Given the description of an element on the screen output the (x, y) to click on. 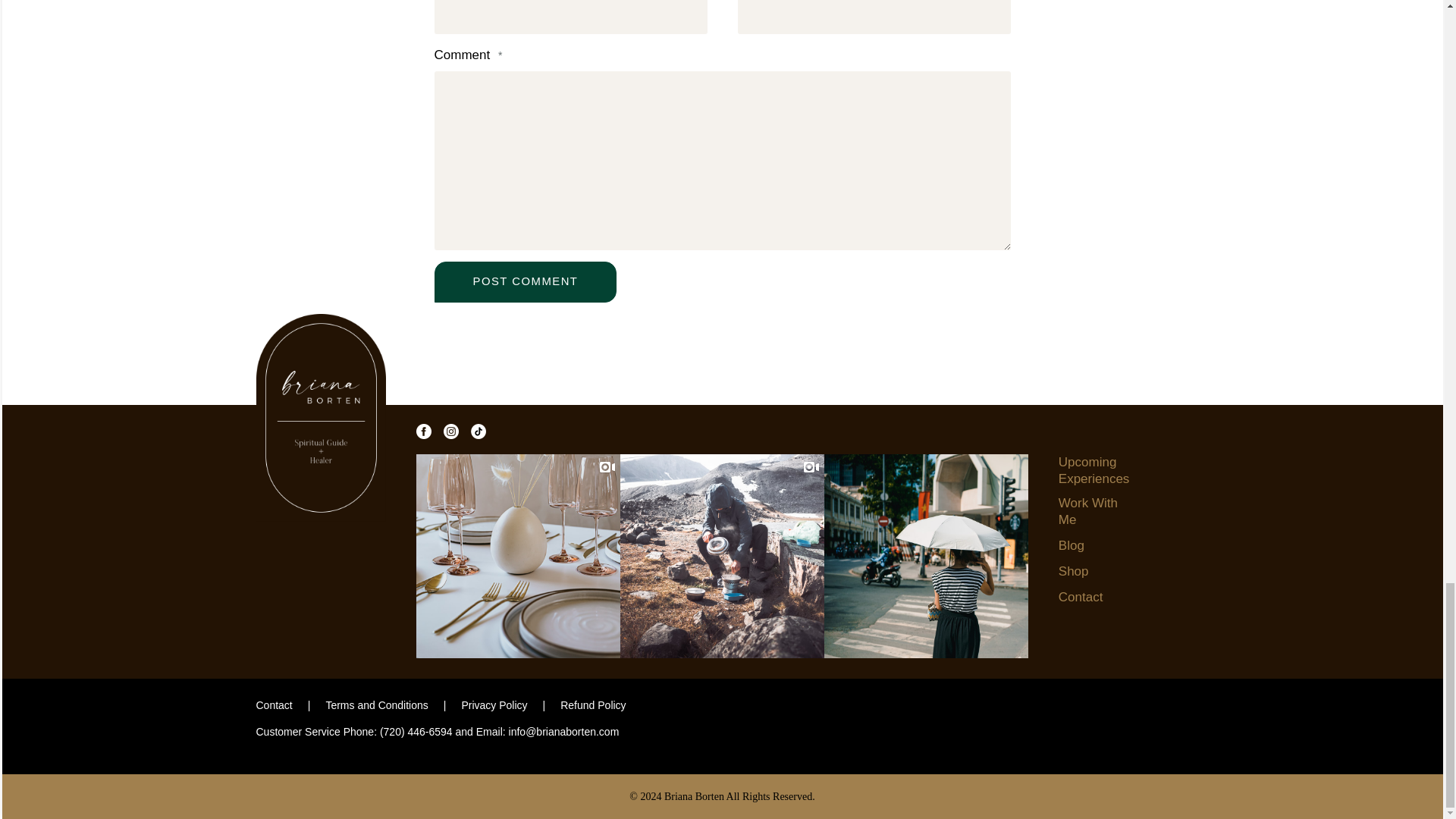
Post Comment (524, 281)
Post Comment (524, 281)
